Given the description of an element on the screen output the (x, y) to click on. 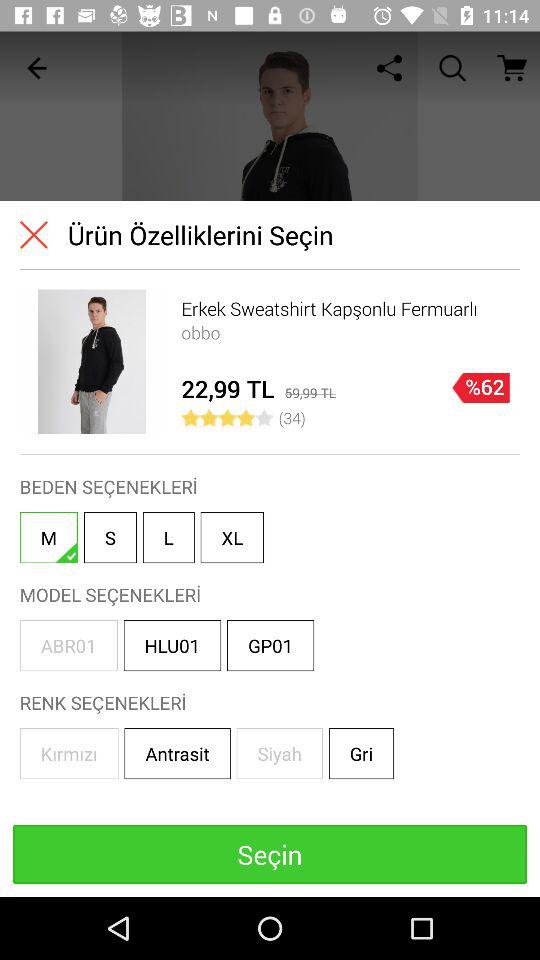
launch the icon to the right of l icon (232, 537)
